Given the description of an element on the screen output the (x, y) to click on. 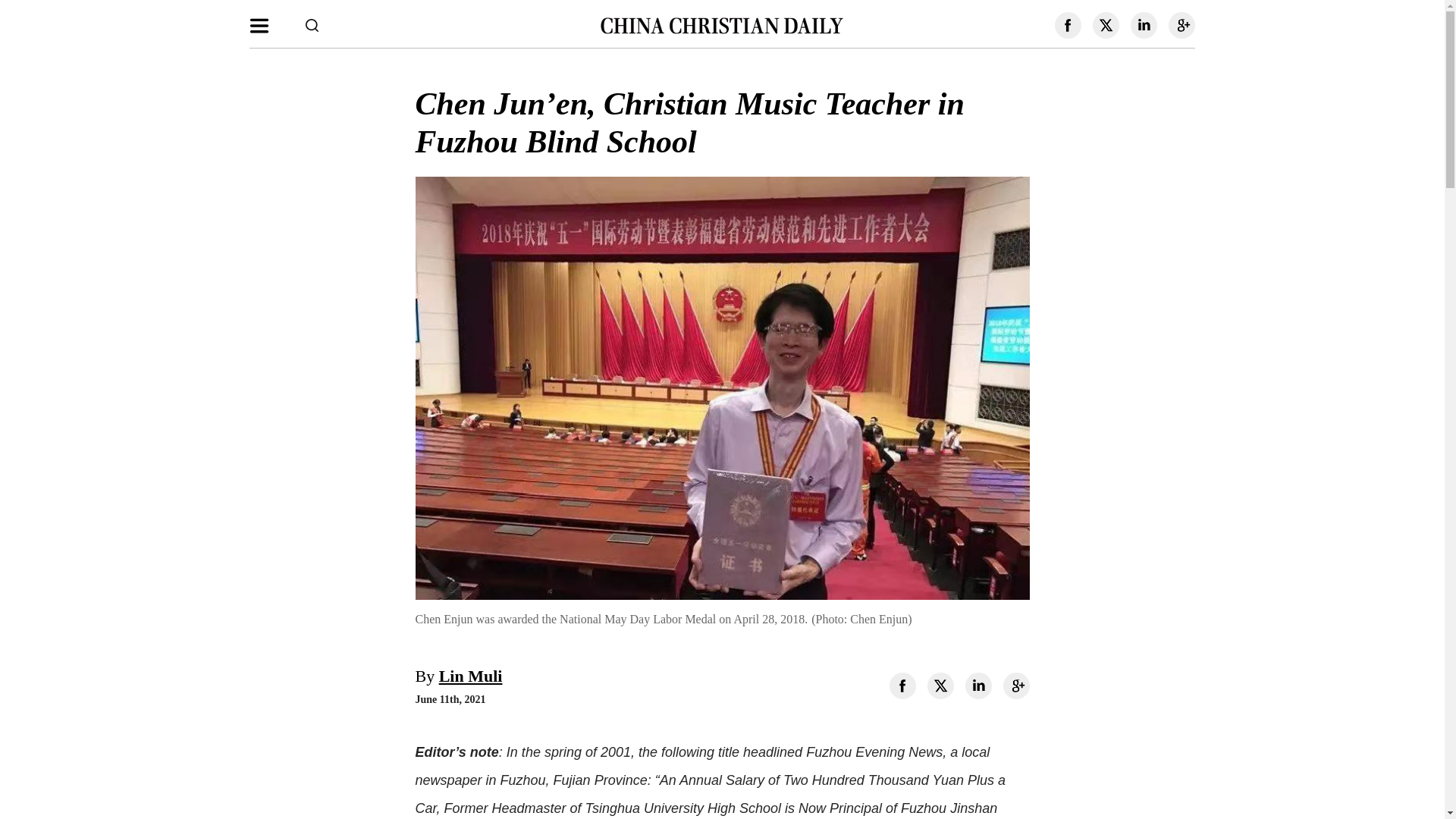
Lin Muli (470, 675)
